Given the description of an element on the screen output the (x, y) to click on. 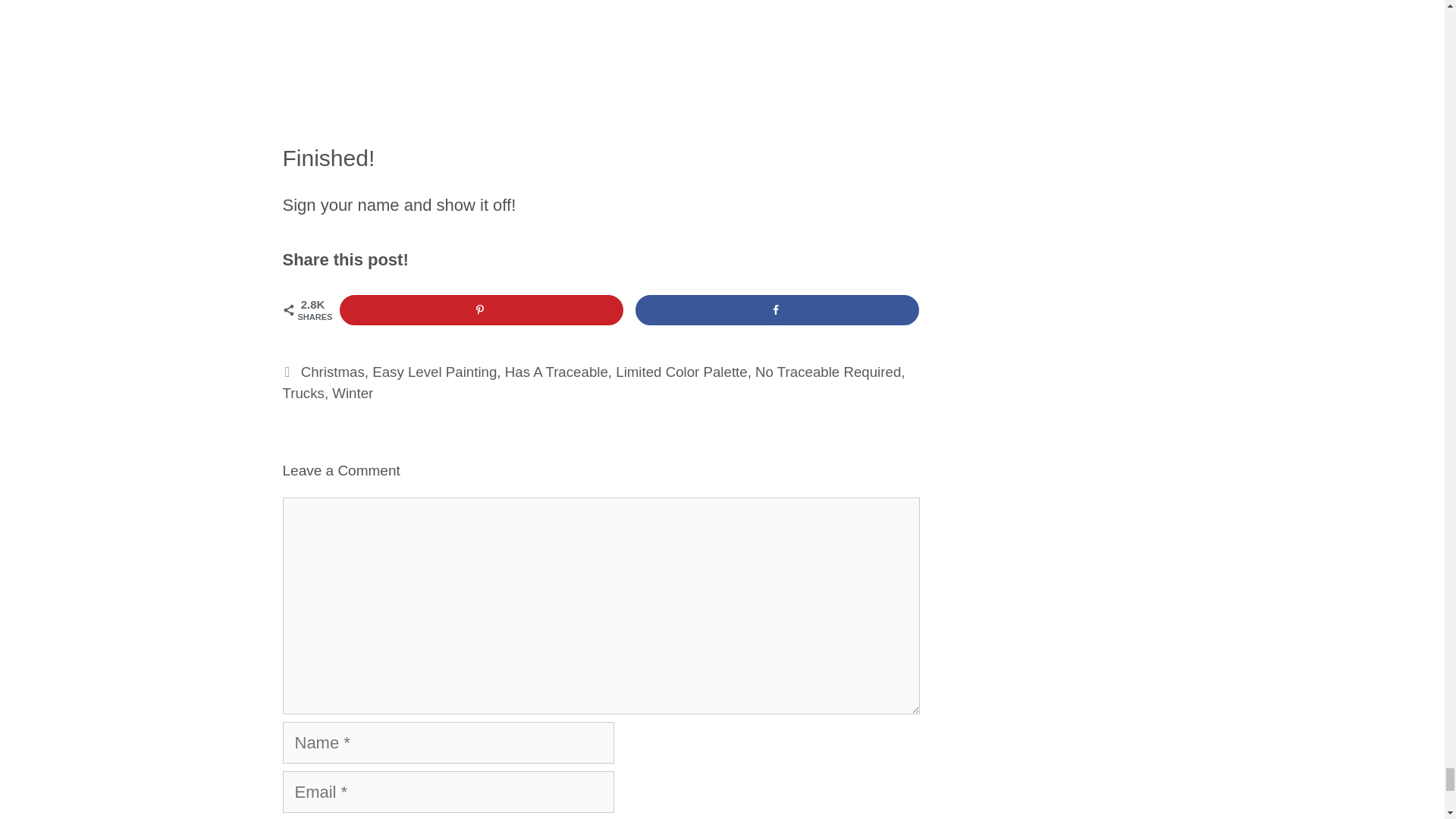
Save to Pinterest (481, 309)
Share on Facebook (777, 309)
